Given the description of an element on the screen output the (x, y) to click on. 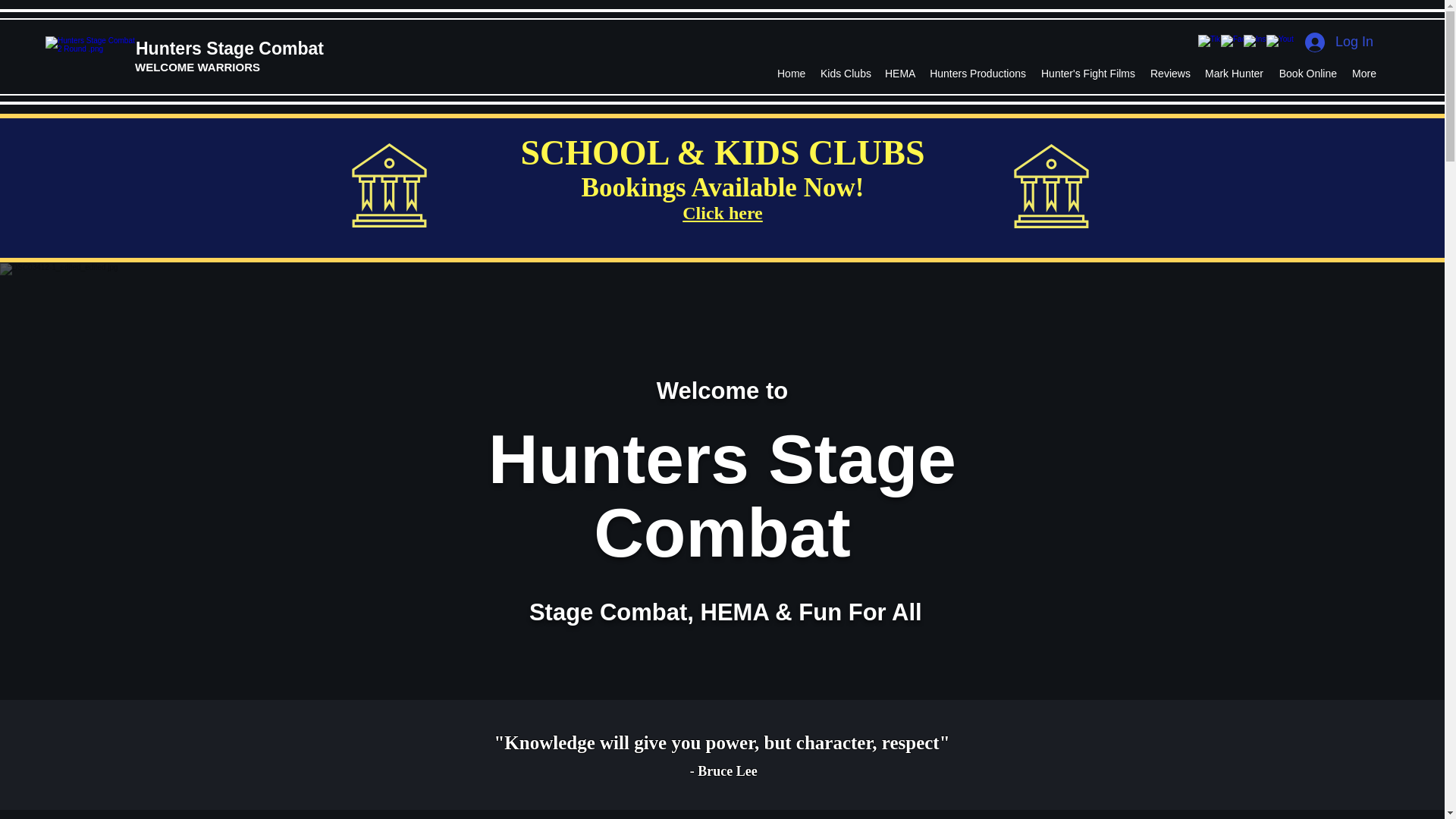
Book Online (1307, 73)
HEMA (899, 73)
Reviews (1169, 73)
Log In (1339, 41)
Hunters Stage Combat (229, 48)
Mark Hunter (1233, 73)
Home (791, 73)
Hunters Productions (977, 73)
Kids Clubs (844, 73)
Hunter's Fight Films (1087, 73)
